Given the description of an element on the screen output the (x, y) to click on. 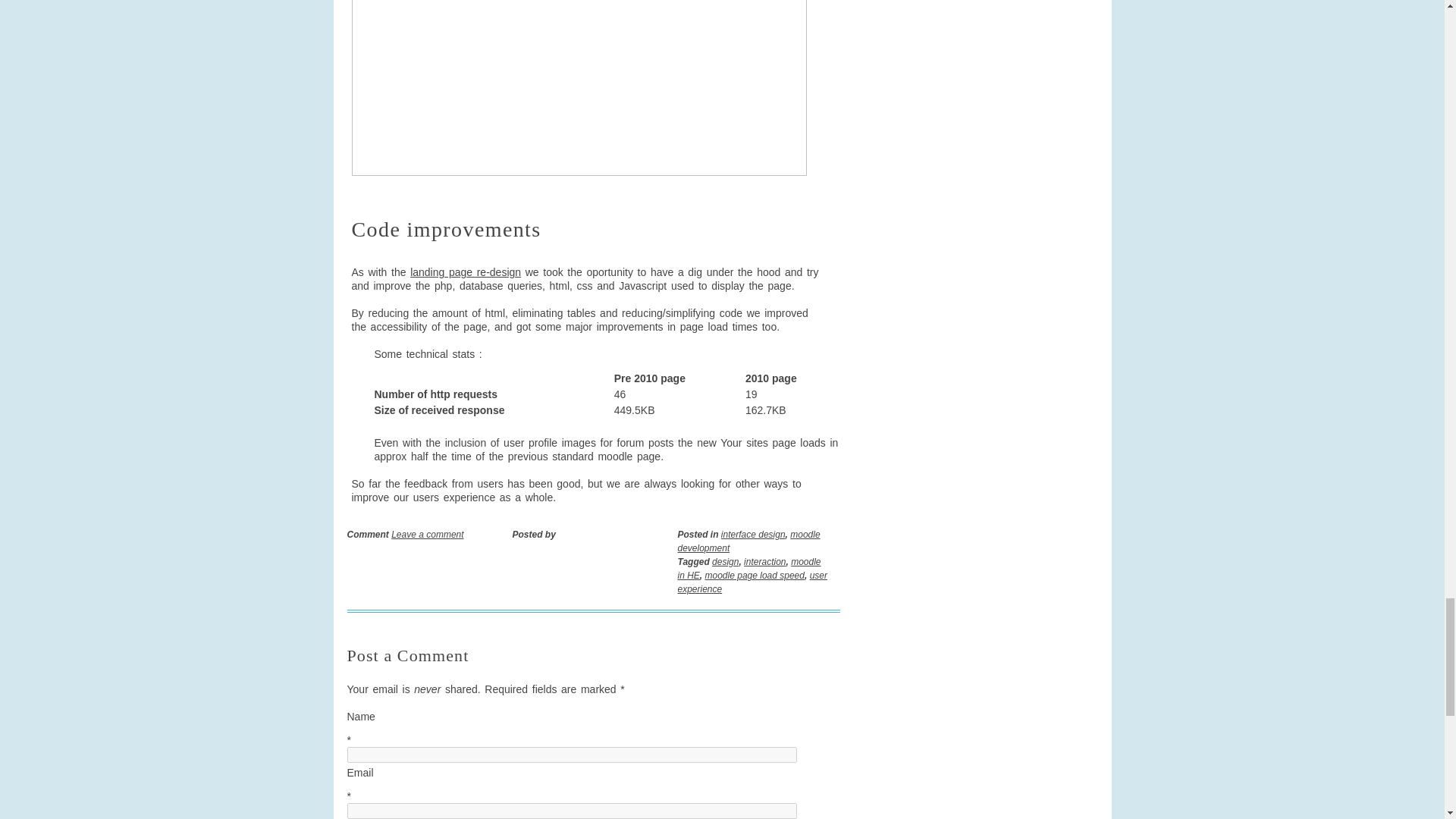
interaction (765, 561)
moodle development (749, 541)
moodle in HE (749, 568)
My page (579, 88)
design (724, 561)
blog post about the moodle login page (465, 272)
Leave a comment (427, 534)
landing page re-design (465, 272)
user experience (752, 582)
interface design (753, 534)
moodle page load speed (754, 575)
